Given the description of an element on the screen output the (x, y) to click on. 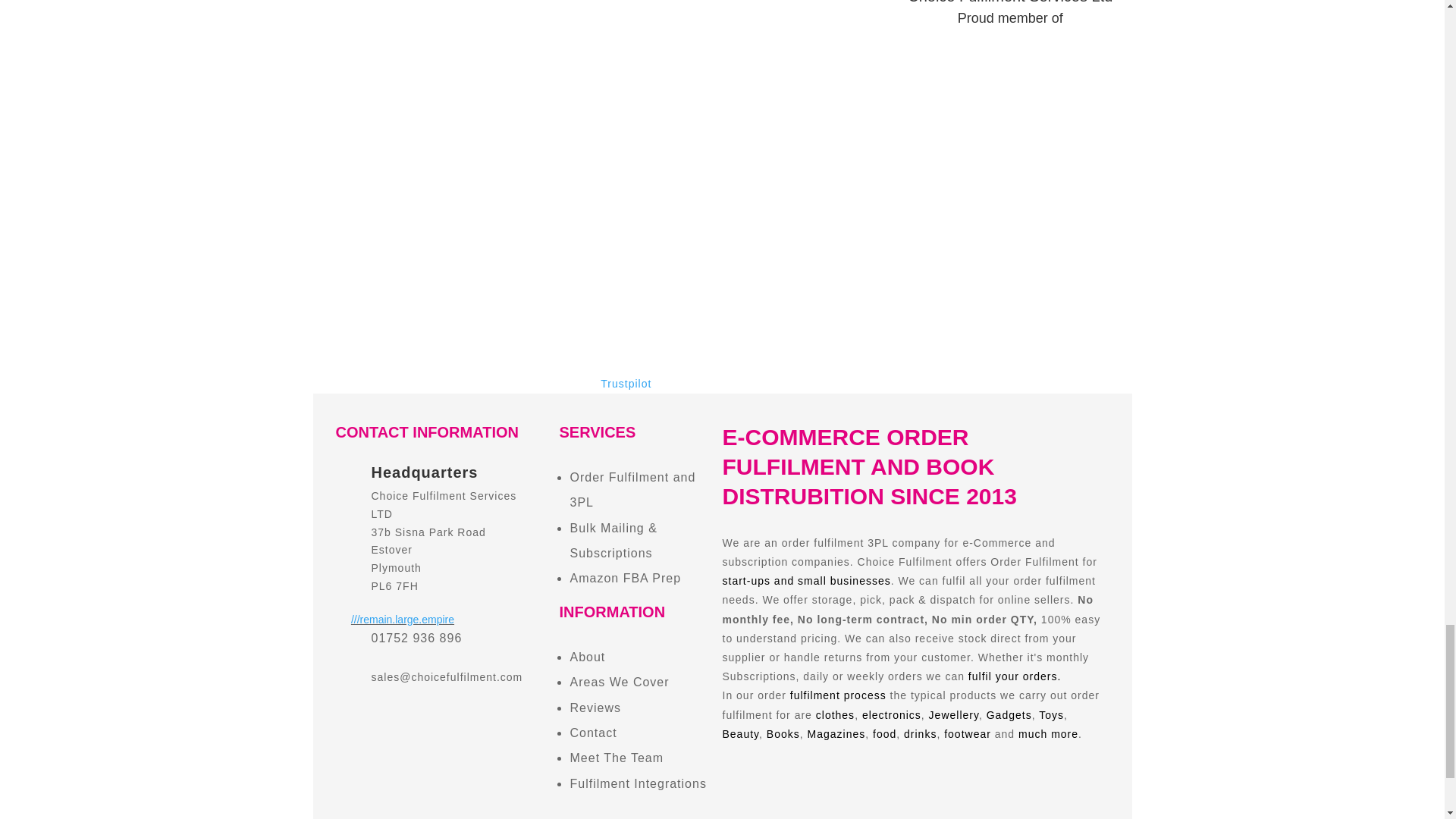
5cb9a1e3-309c-4e35-b842-670cd76a2e0b (1010, 97)
newff (433, 76)
